Given the description of an element on the screen output the (x, y) to click on. 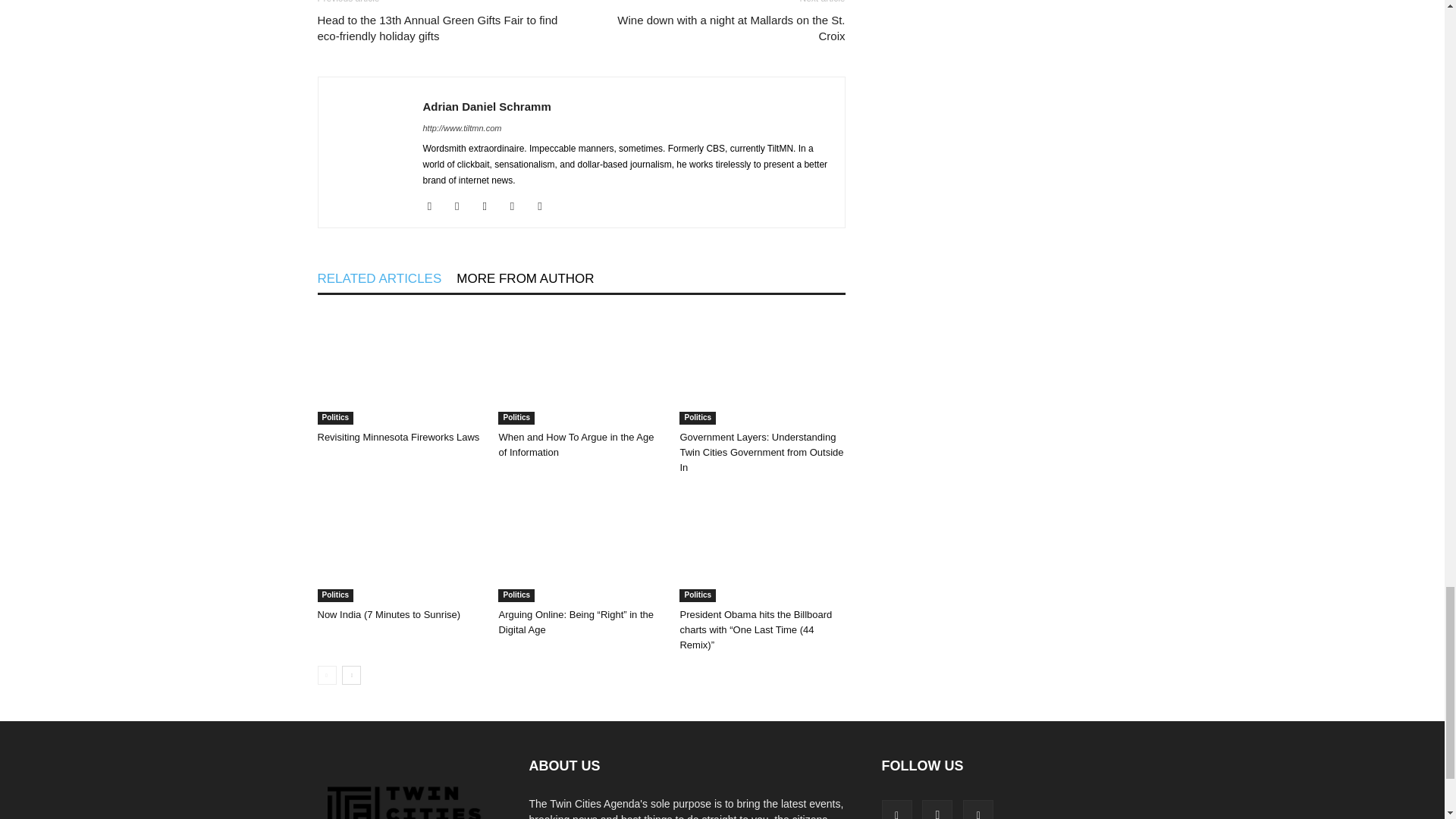
Linkedin (489, 206)
Facebook (435, 206)
Revisiting Minnesota Fireworks Laws (399, 368)
Instagram (462, 206)
Twitter (544, 206)
Mail (518, 206)
